Given the description of an element on the screen output the (x, y) to click on. 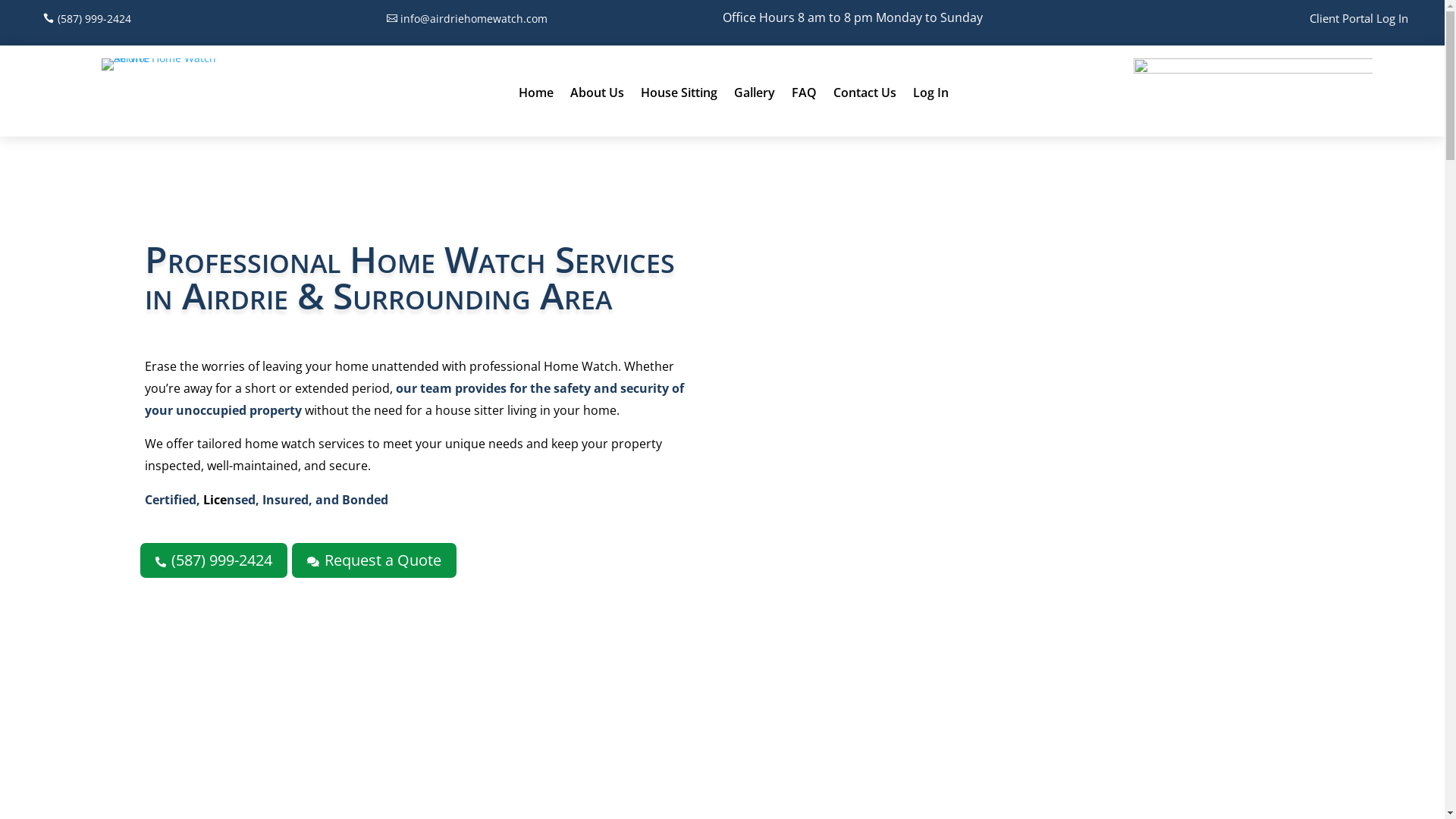
Home Element type: text (535, 95)
nhwa-member-large Element type: hover (1252, 92)
About Us Element type: text (597, 95)
info@airdriehomewatch.com Element type: text (467, 18)
Log In Element type: text (930, 95)
Contact Us Element type: text (864, 95)
FAQ Element type: text (803, 95)
Gallery Element type: text (754, 95)
Why Hire an NHWA Accredited Member? Element type: hover (1026, 443)
House Sitting Element type: text (678, 95)
Client Portal Log In Element type: text (1358, 20)
(587) 999-2424 Element type: text (87, 18)
